Given the description of an element on the screen output the (x, y) to click on. 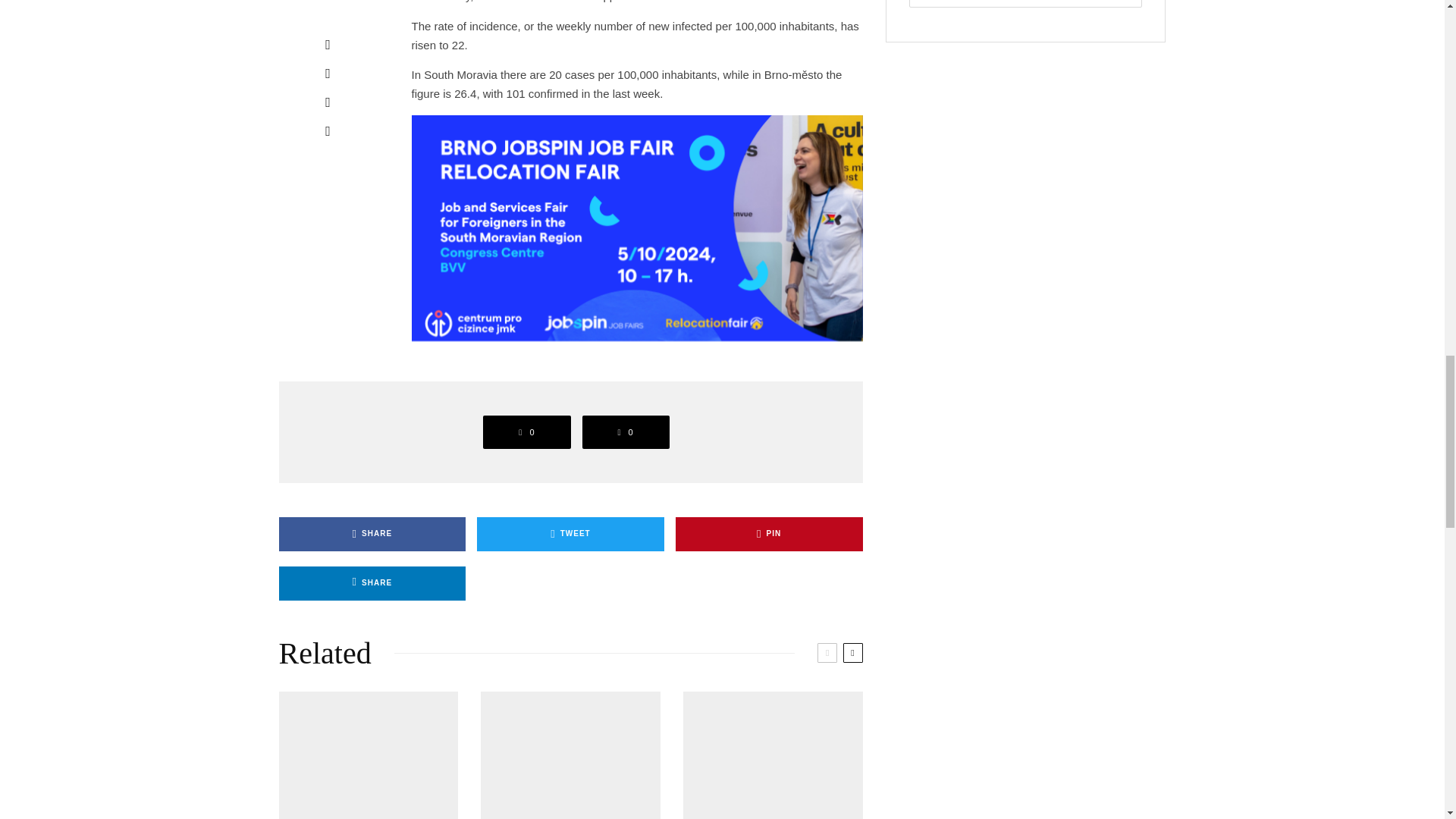
Sign up (1024, 3)
